Given the description of an element on the screen output the (x, y) to click on. 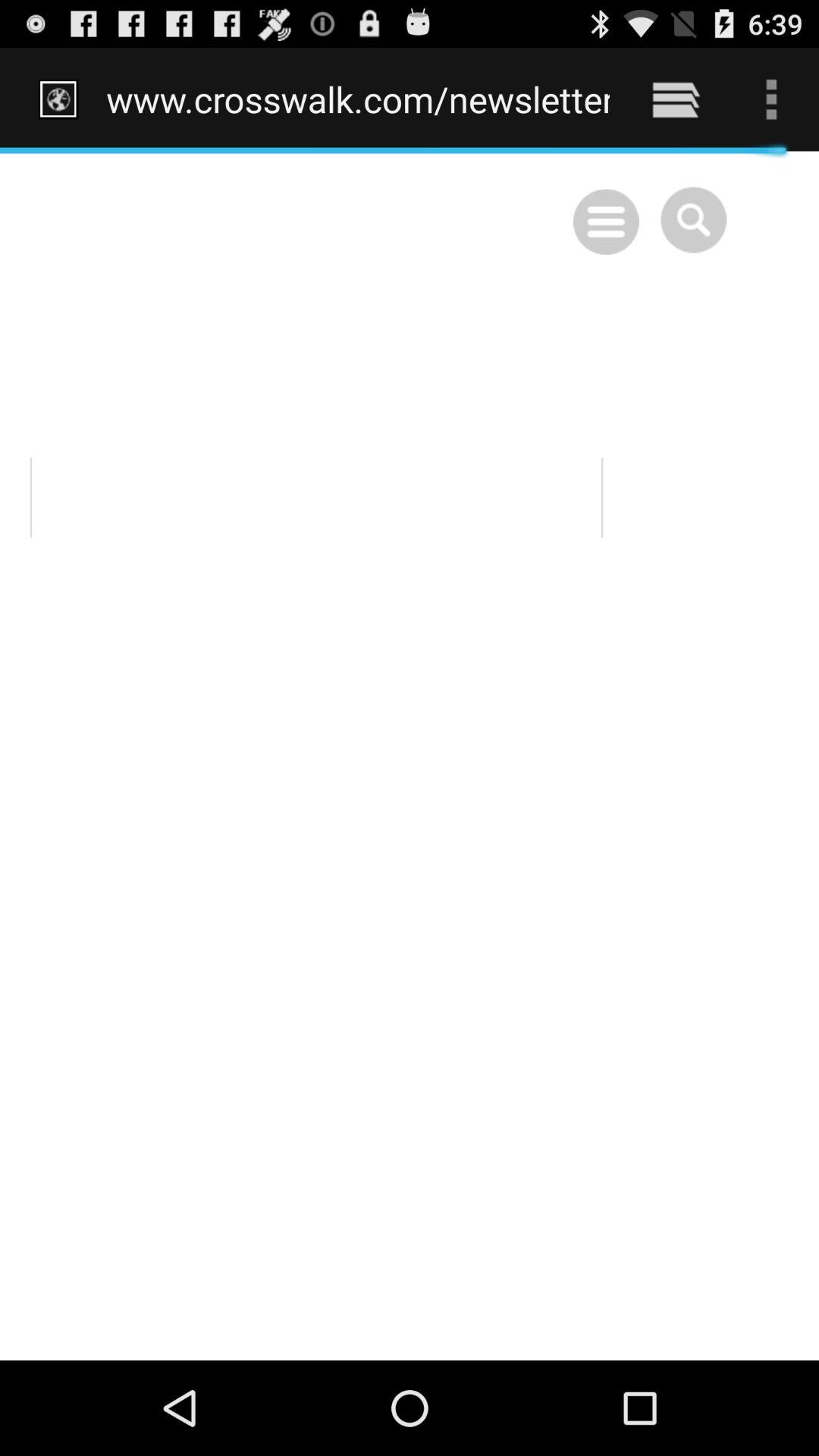
click the item below the www crosswalk com item (409, 755)
